Given the description of an element on the screen output the (x, y) to click on. 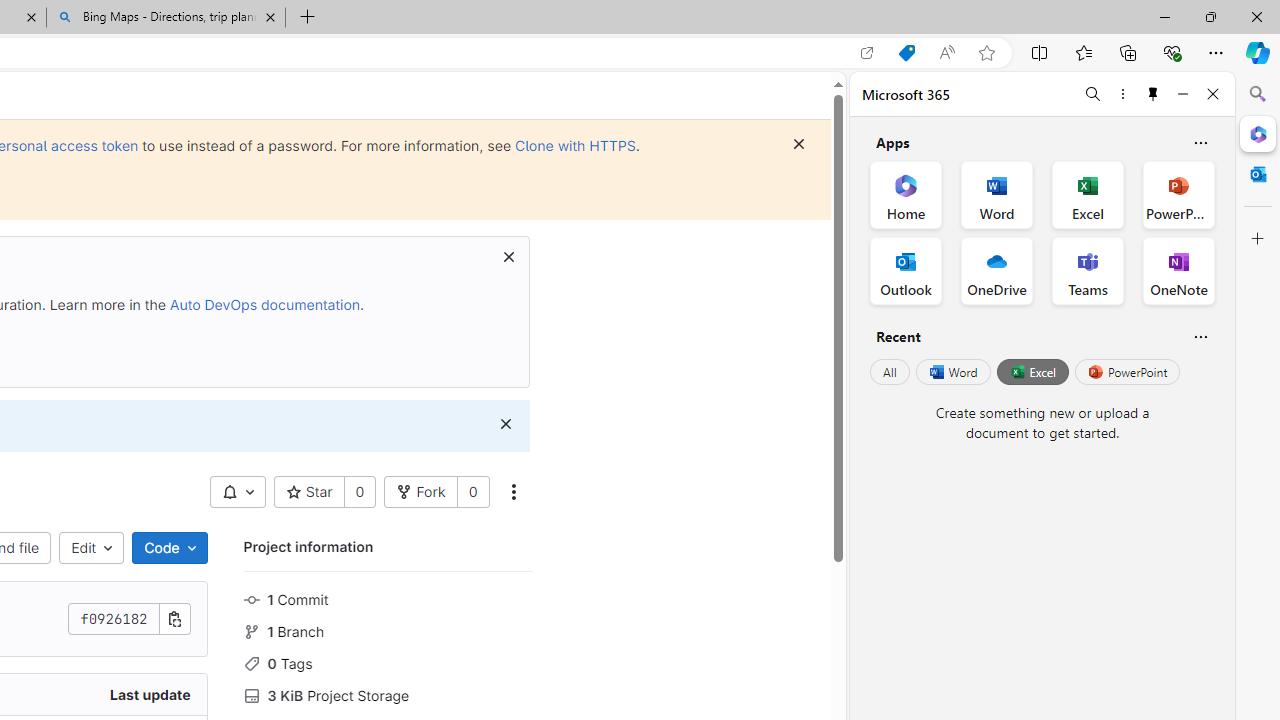
Add this page to favorites (Ctrl+D) (986, 53)
Restore (1210, 16)
AutomationID: __BVID__498__BV_toggle_ (237, 491)
1 Commit (387, 597)
All (890, 372)
Settings and more (Alt+F) (1215, 52)
Outlook (1258, 174)
PowerPoint Office App (1178, 194)
3 KiB Project Storage (387, 693)
Unpin side pane (1153, 93)
PowerPoint (1127, 372)
Close (1213, 93)
More options (1122, 93)
